Given the description of an element on the screen output the (x, y) to click on. 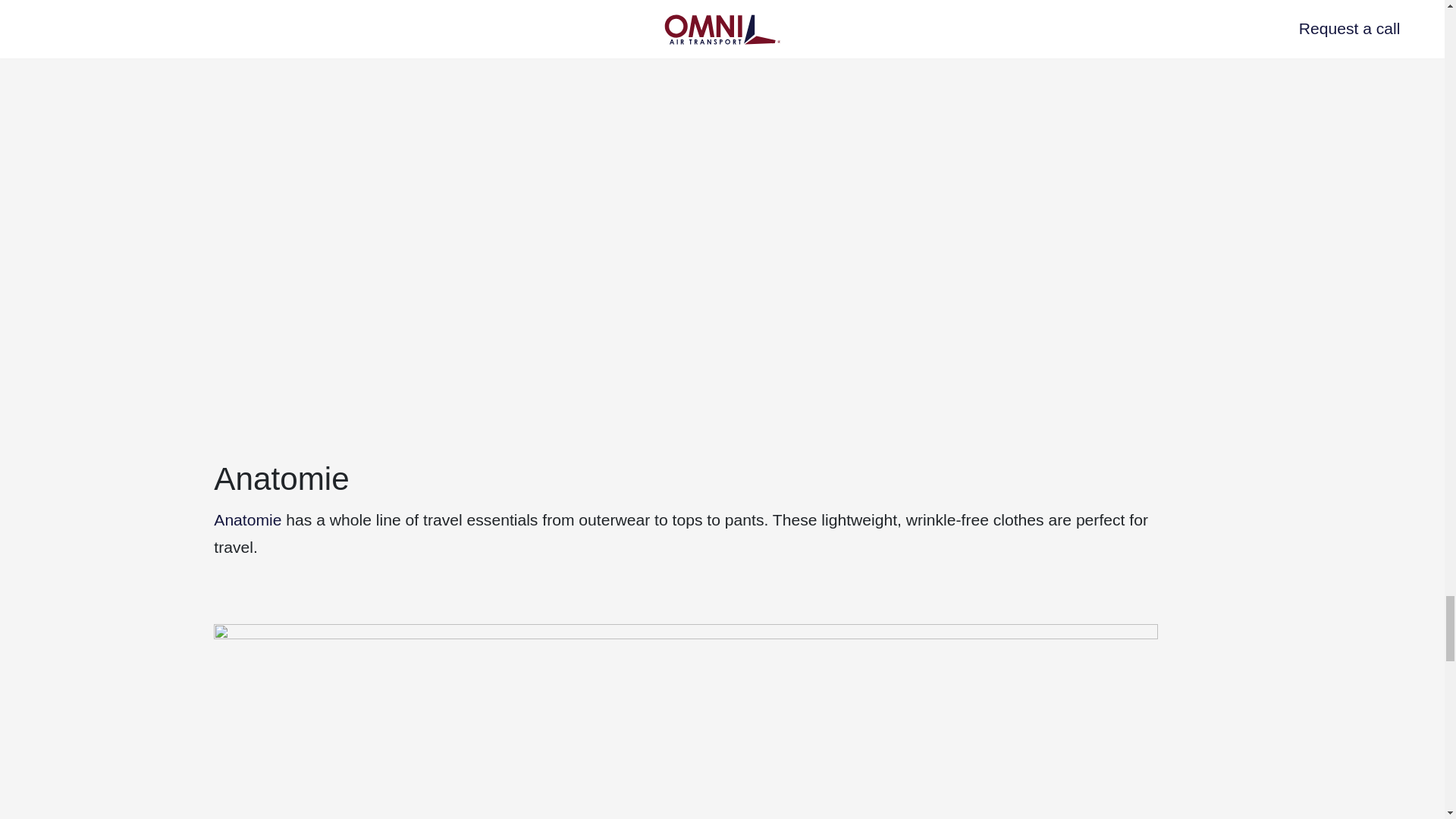
Anatomie (247, 519)
